Given the description of an element on the screen output the (x, y) to click on. 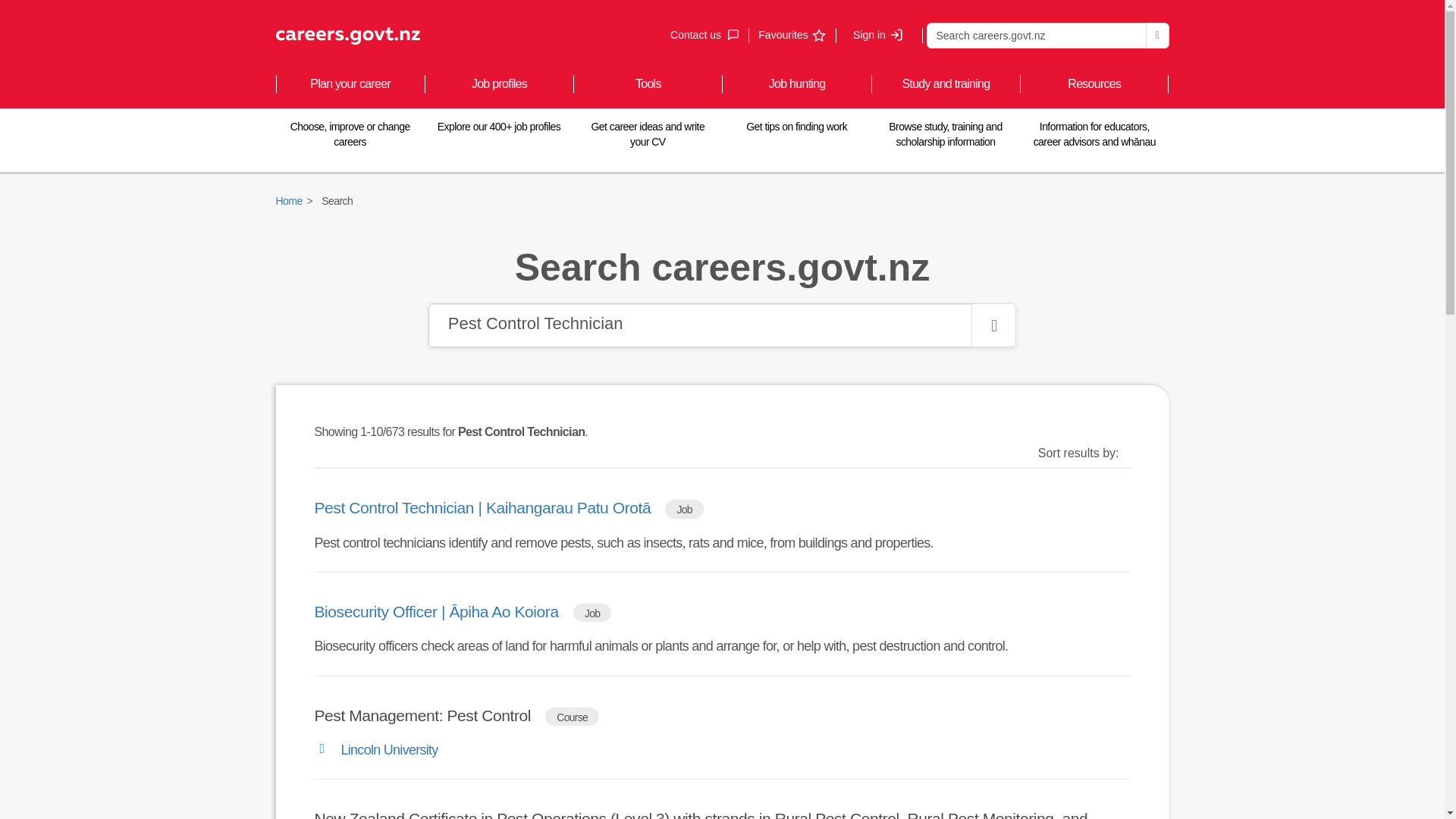
Favourites (791, 35)
Pest Control Technician (704, 35)
Search (700, 325)
Search (1157, 35)
Sign in (1036, 35)
